Given the description of an element on the screen output the (x, y) to click on. 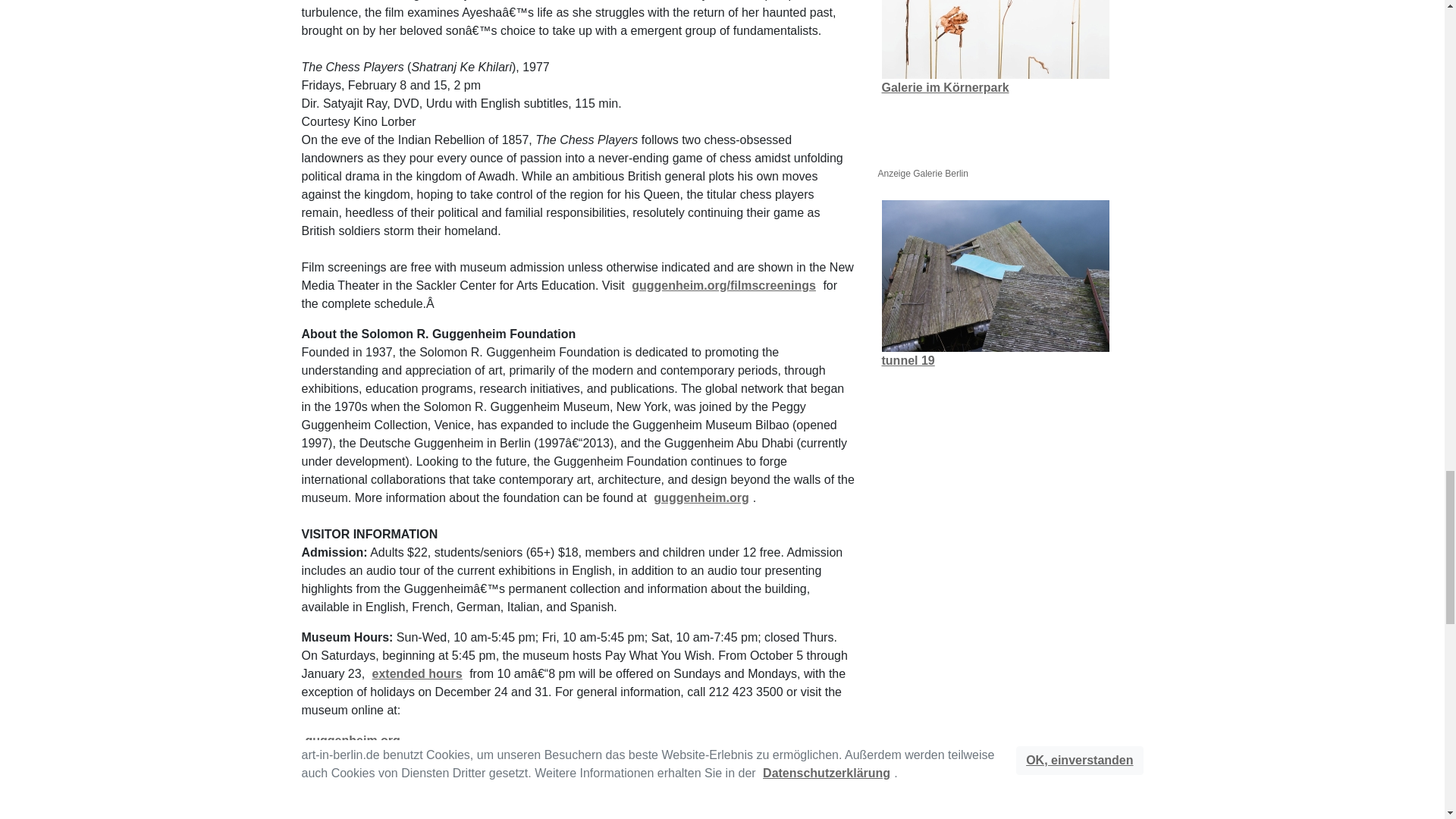
guggenheim.org (700, 497)
Werkabbildung (994, 275)
guggenheim.org (352, 741)
Werkabbildung (994, 39)
extended hours (416, 674)
